Given the description of an element on the screen output the (x, y) to click on. 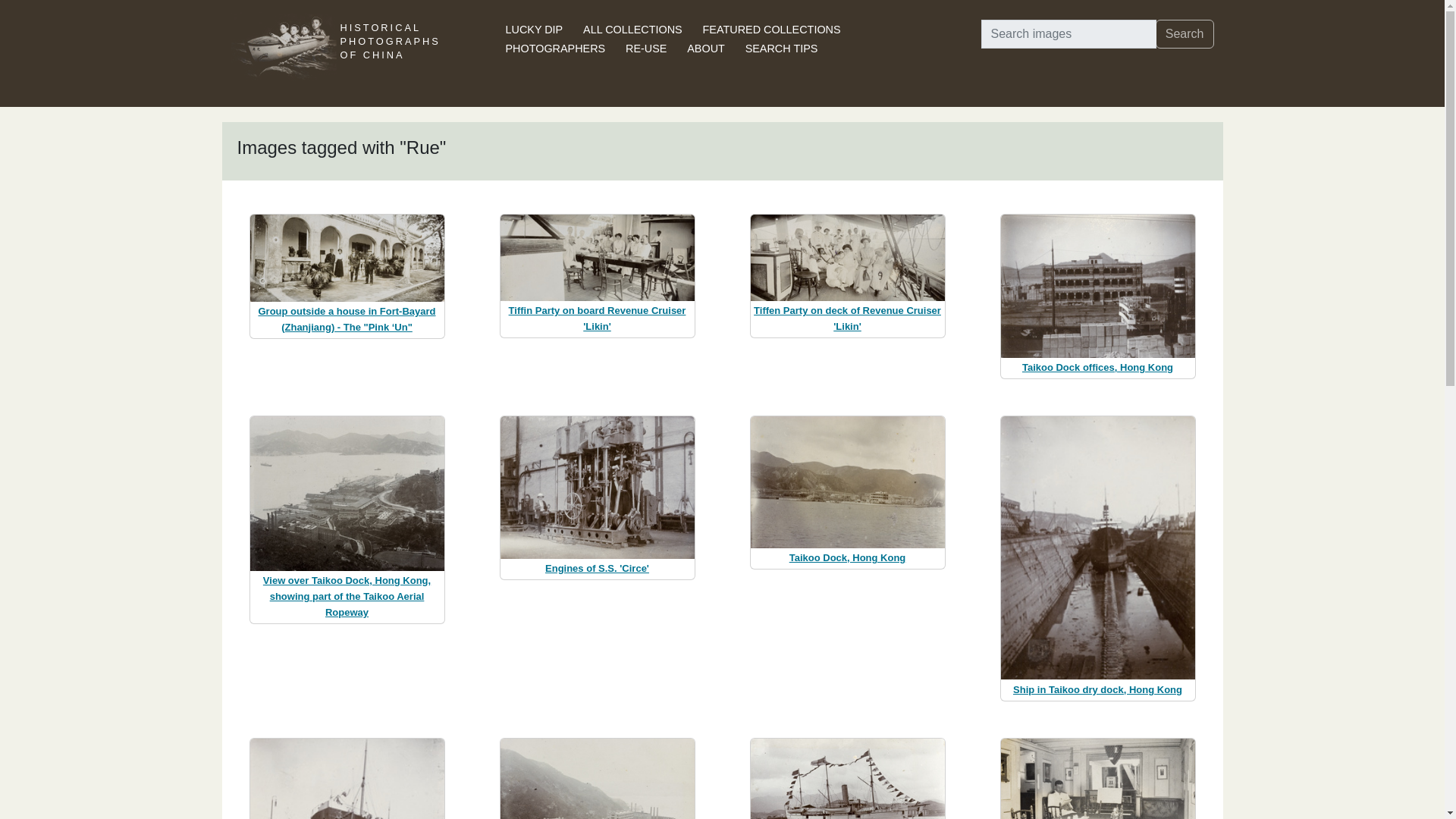
FEATURED COLLECTIONS (772, 29)
PHOTOGRAPHERS (555, 48)
Tiffen Party on deck of Revenue Cruiser 'Likin' (847, 318)
Ship in Taikoo dry dock, Hong Kong (1097, 689)
ALL COLLECTIONS (632, 29)
SEARCH TIPS (781, 48)
Engines of S.S. 'Circe' (596, 568)
Search (1185, 33)
Taikoo Dock, Hong Kong (847, 557)
Tiffin Party on board Revenue Cruiser 'Likin' (596, 318)
ABOUT (706, 48)
LUCKY DIP (533, 29)
RE-USE (646, 48)
HISTORICAL PHOTOGRAPHS OF CHINA (389, 53)
